Given the description of an element on the screen output the (x, y) to click on. 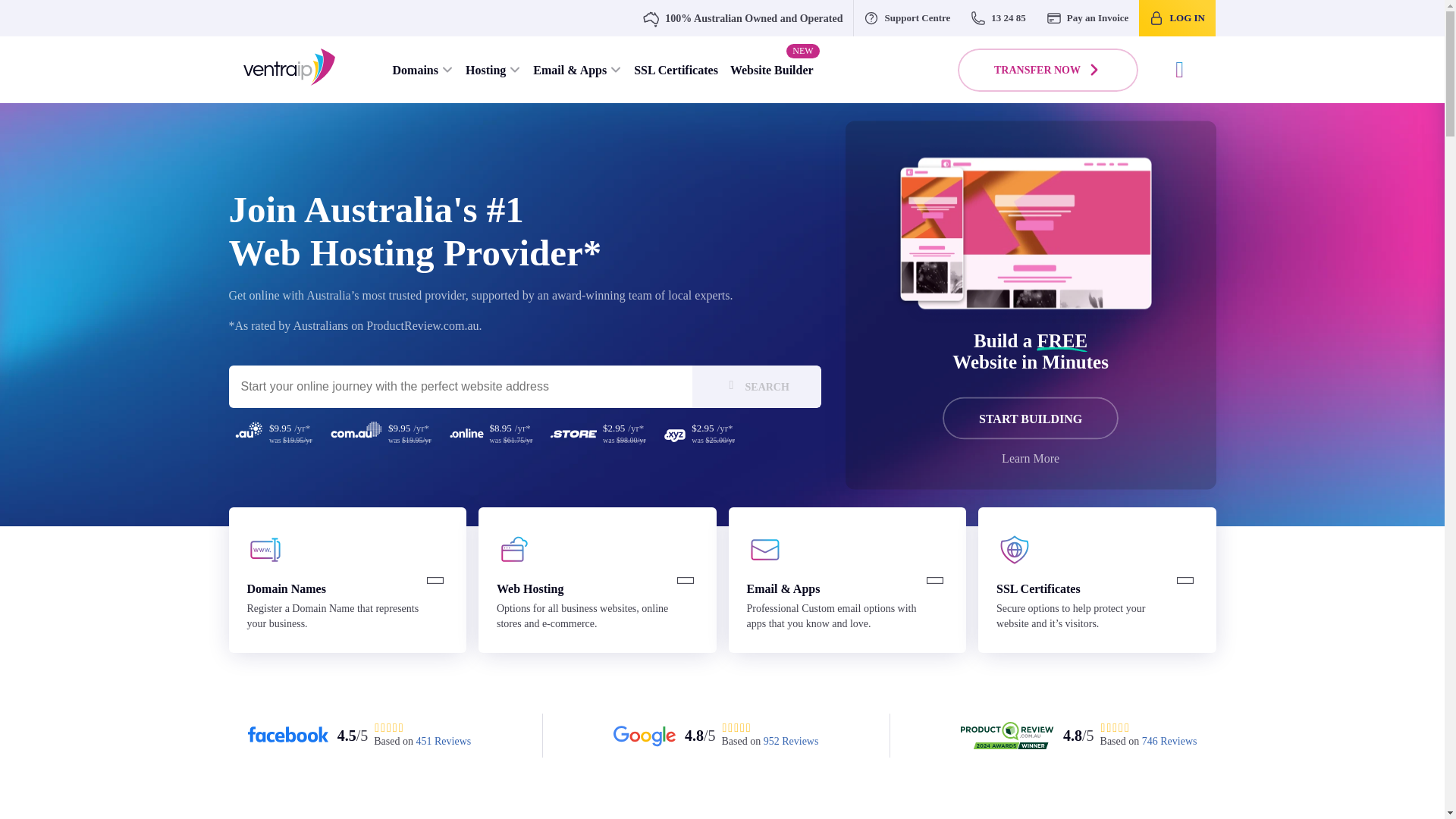
emailapps (764, 549)
domains (265, 549)
Learn More (1030, 459)
hosting (514, 549)
Support Centre (906, 18)
Website Builder (771, 69)
LOG IN (1176, 18)
TRANSFER NOW (1048, 69)
security (1013, 549)
